Given the description of an element on the screen output the (x, y) to click on. 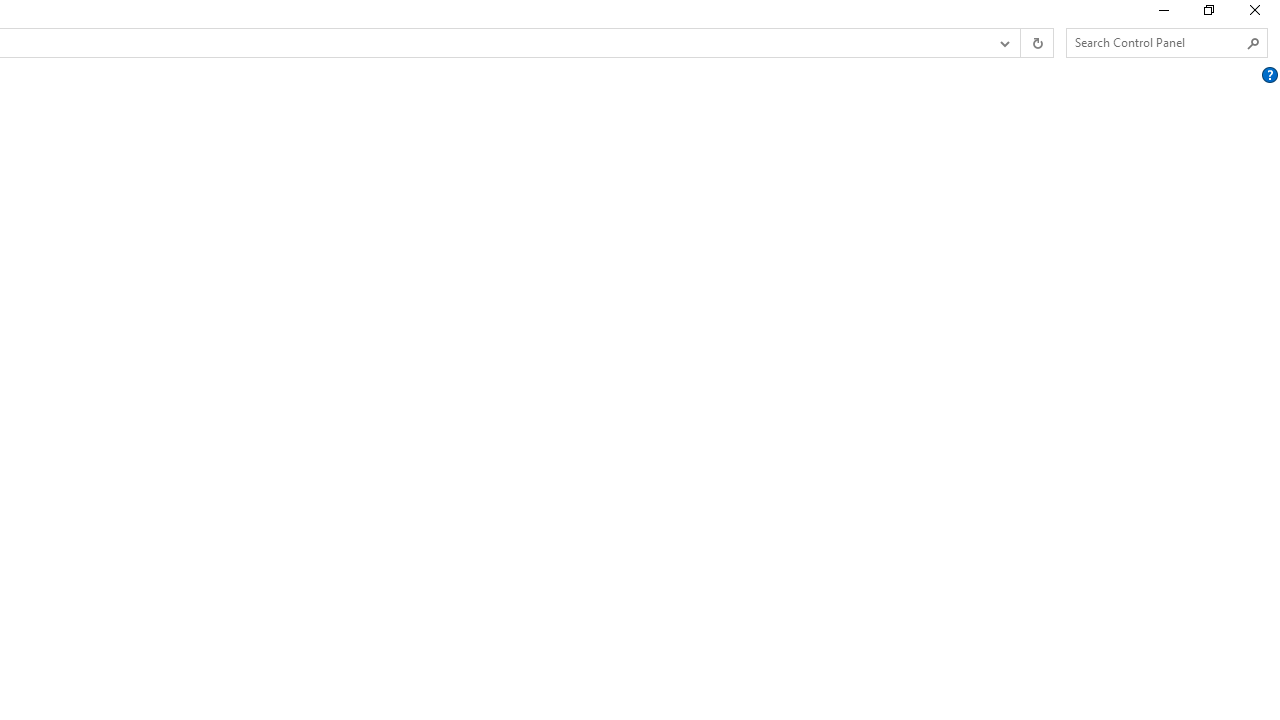
Restore (1208, 14)
Search Box (1156, 42)
Previous Locations (1003, 43)
Address band toolbar (1019, 43)
Refresh "Power Options" (F5) (1036, 43)
Minimize (1162, 14)
Search (1253, 43)
Help (1269, 75)
